Given the description of an element on the screen output the (x, y) to click on. 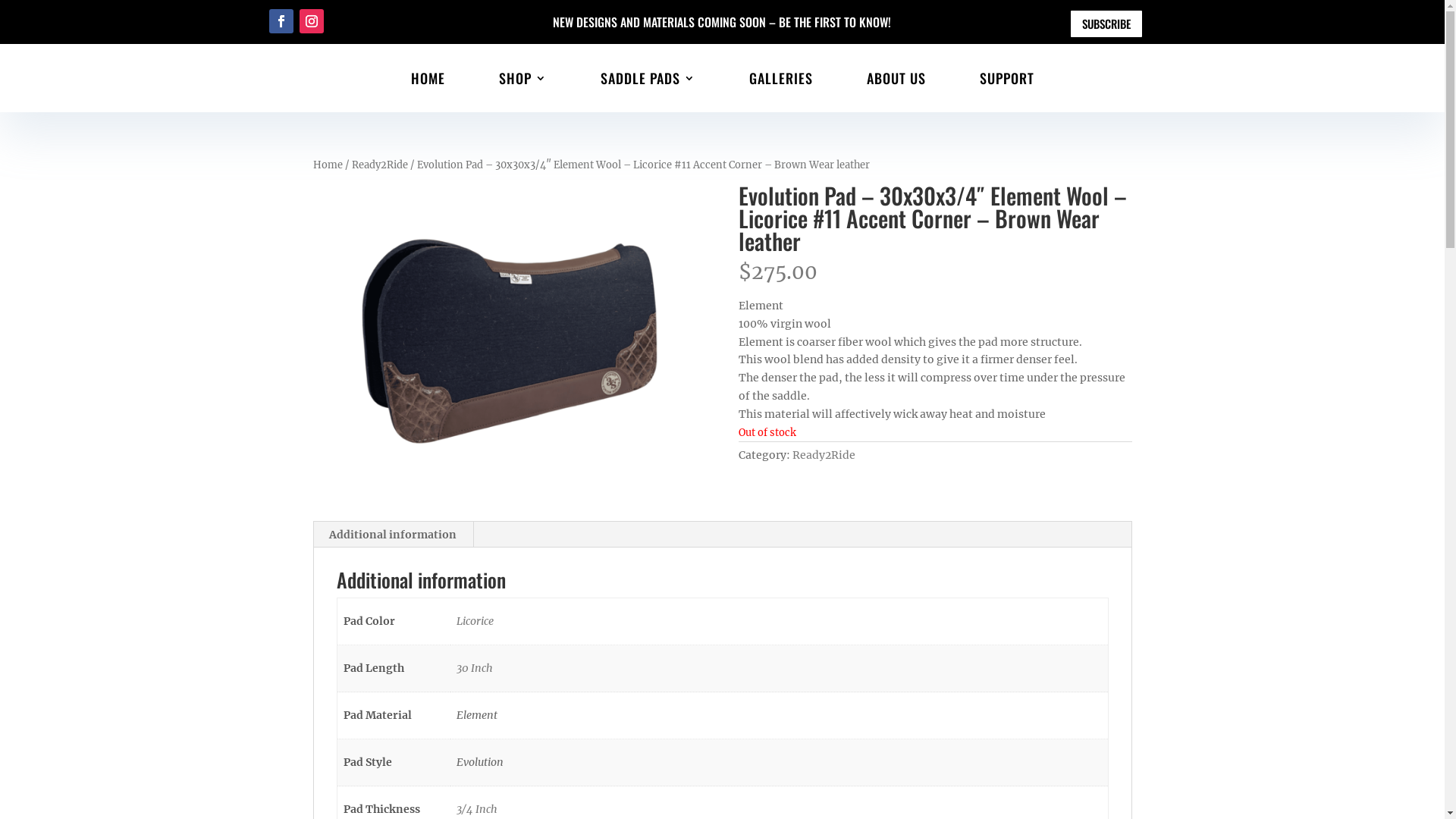
Additional information Element type: text (392, 534)
Ready2Ride Element type: text (379, 164)
Follow on Instagram Element type: hover (311, 21)
30 Inch Element type: text (474, 667)
Home Element type: text (327, 164)
Licorice Element type: text (474, 620)
HOME Element type: text (428, 77)
3/4 Inch Element type: text (476, 808)
SHOP Element type: text (522, 77)
Follow on Facebook Element type: hover (281, 21)
IMG_2625 Element type: hover (508, 341)
ABOUT US Element type: text (895, 77)
Ready2Ride Element type: text (823, 454)
SADDLE PADS Element type: text (647, 77)
GALLERIES Element type: text (780, 77)
SUPPORT Element type: text (1006, 77)
SUBSCRIBE Element type: text (1106, 23)
